Given the description of an element on the screen output the (x, y) to click on. 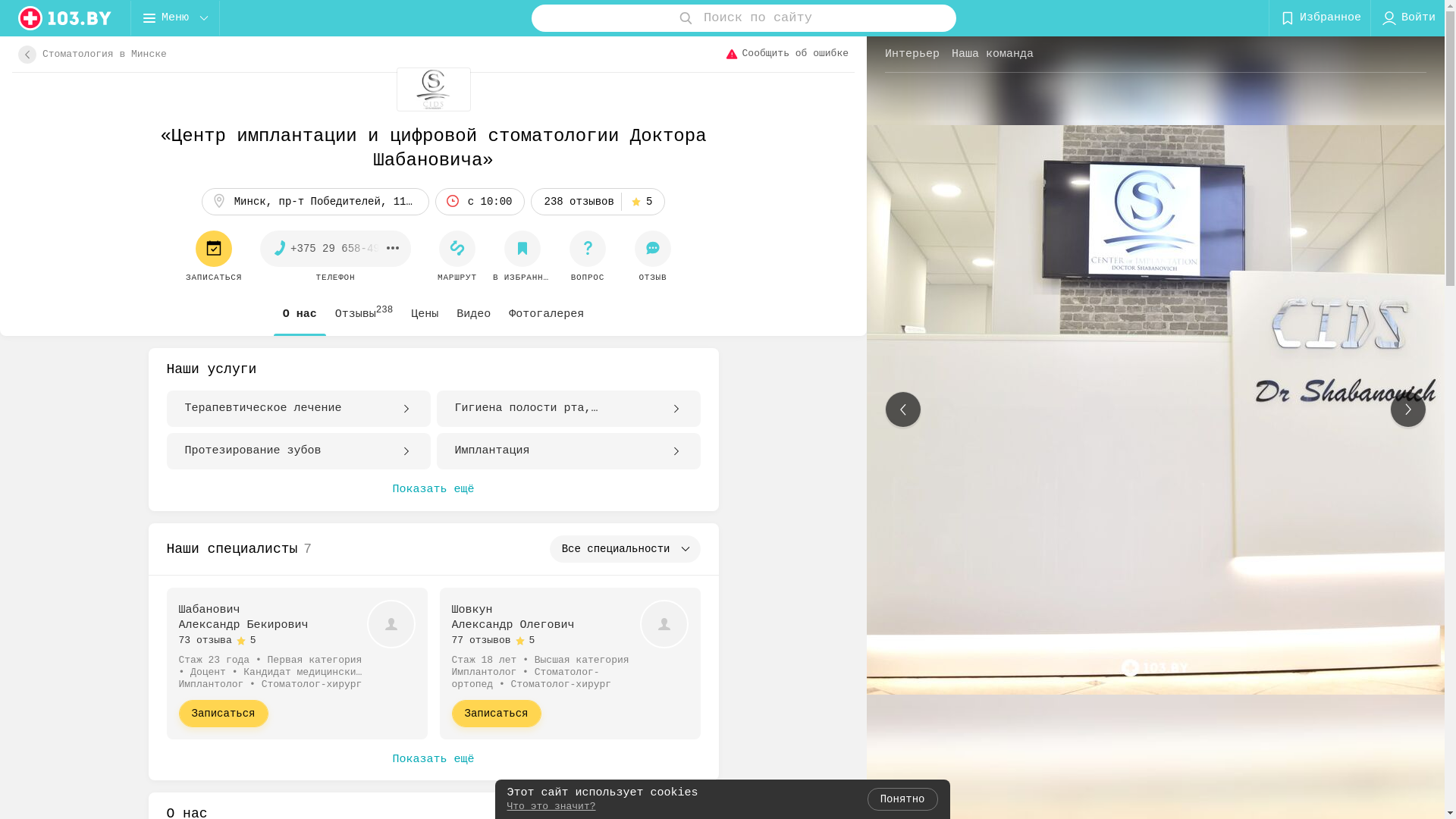
logo Element type: hover (65, 18)
